Given the description of an element on the screen output the (x, y) to click on. 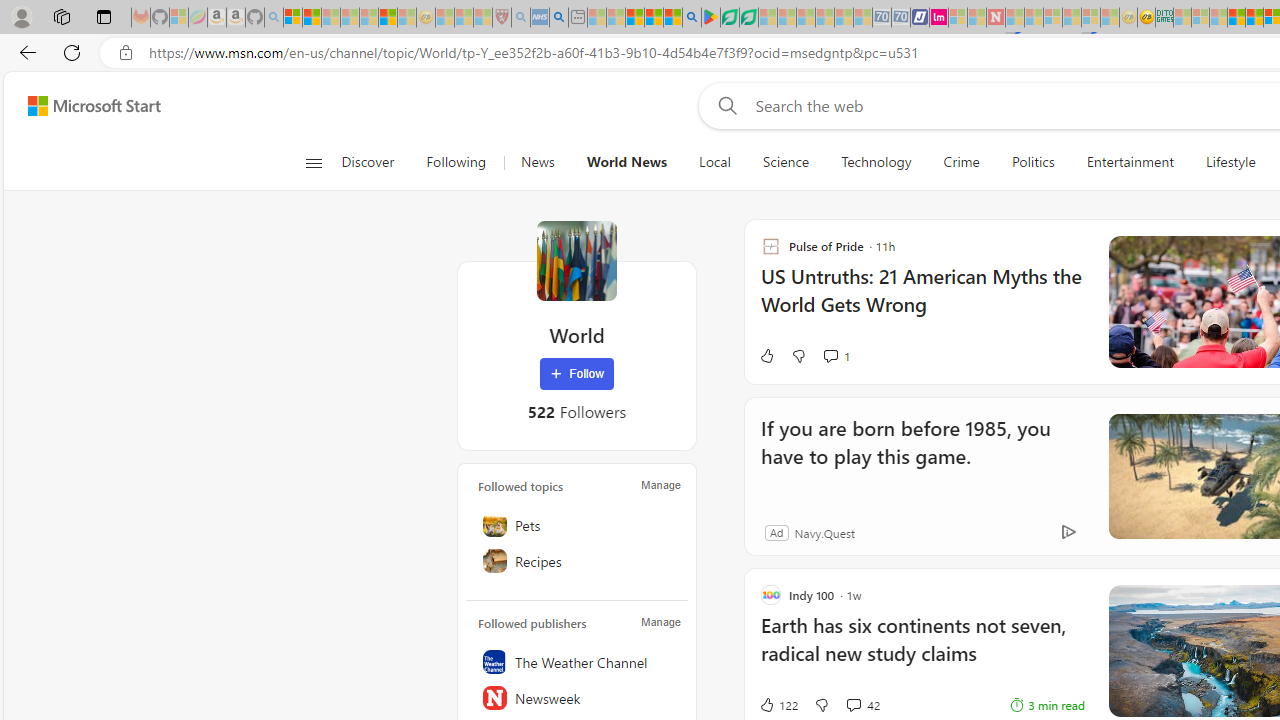
Bluey: Let's Play! - Apps on Google Play (710, 17)
Jobs - lastminute.com Investor Portal (939, 17)
Earth has six continents not seven, radical new study claims (922, 650)
